Given the description of an element on the screen output the (x, y) to click on. 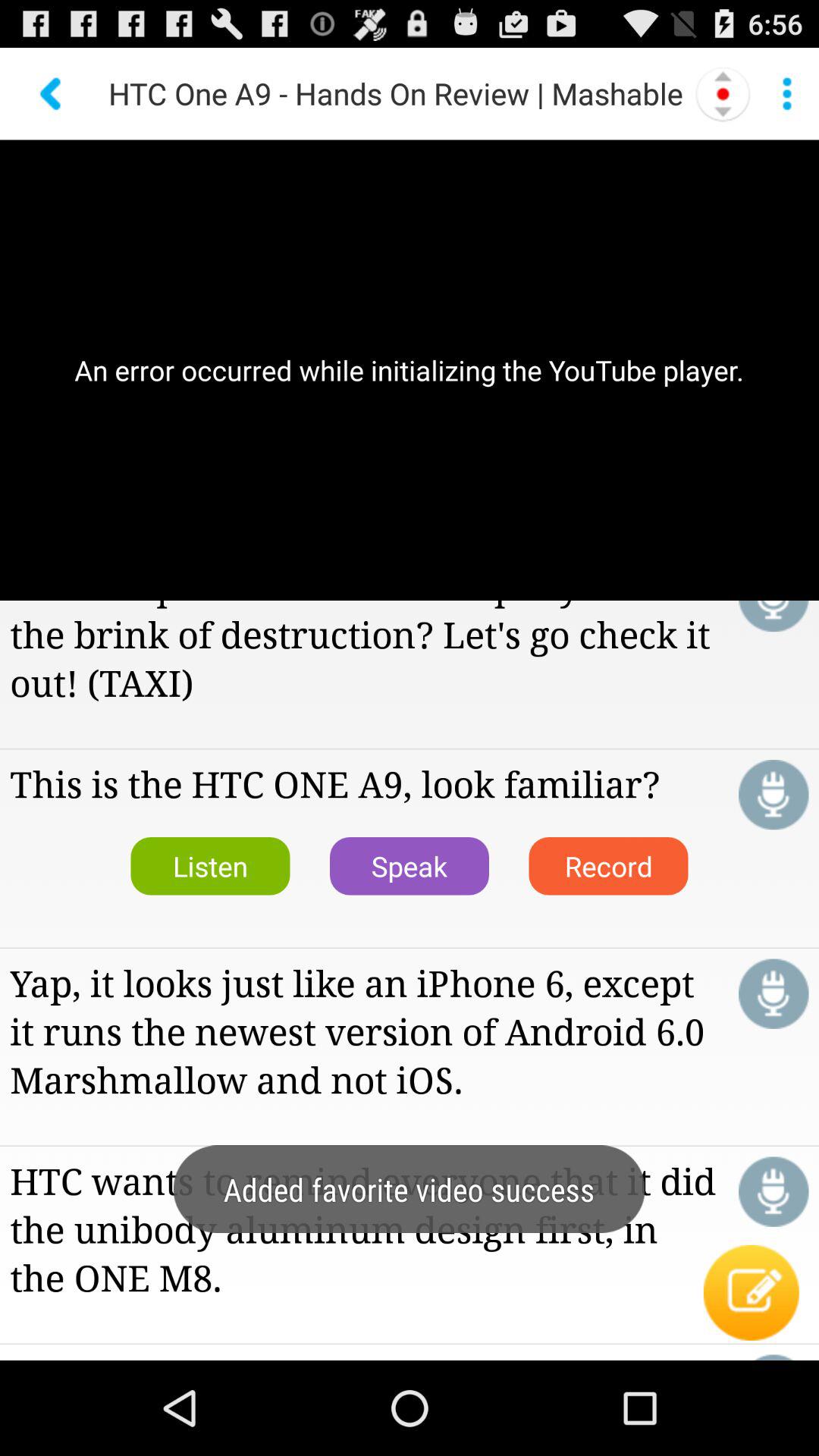
toggle ignore (773, 615)
